Given the description of an element on the screen output the (x, y) to click on. 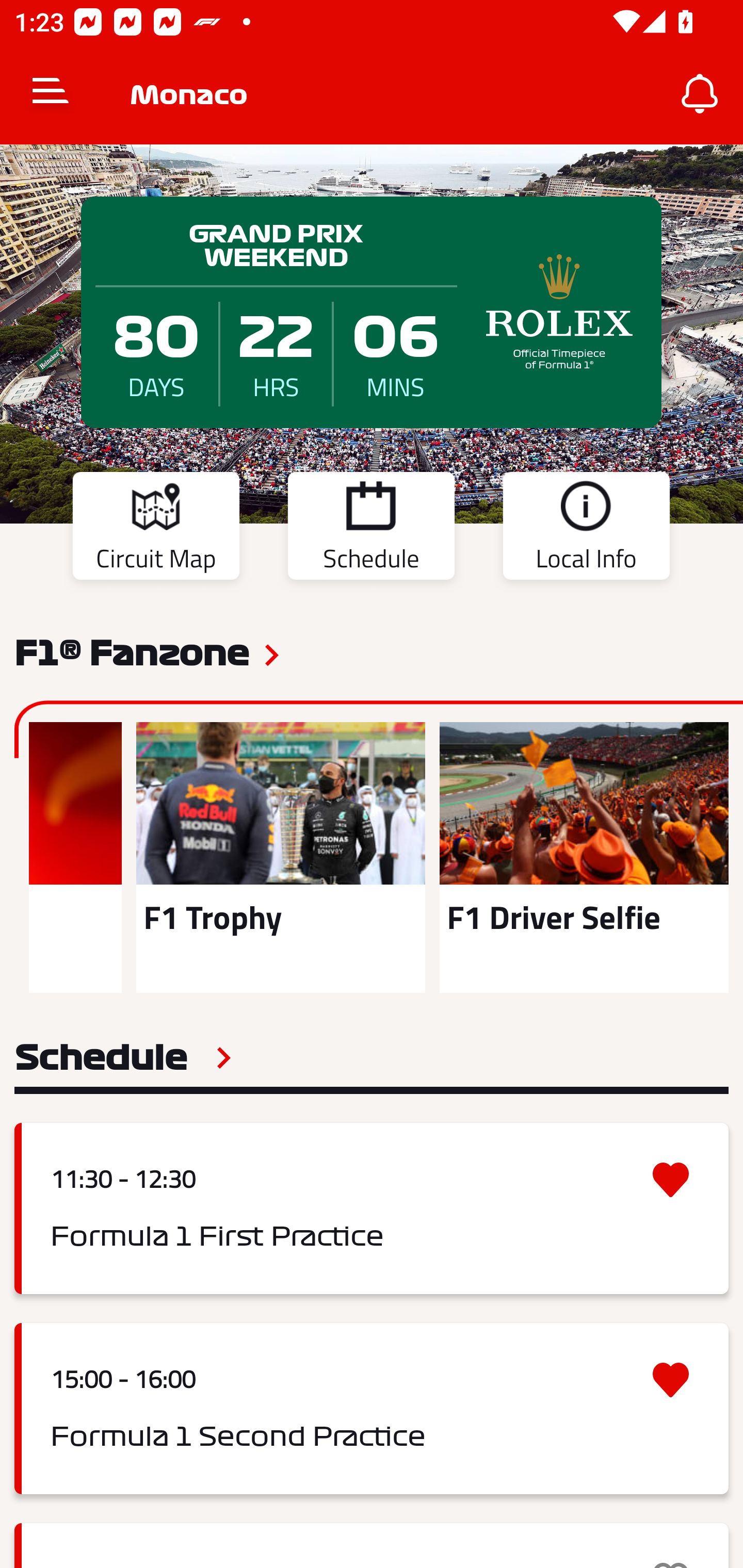
Navigate up (50, 93)
Notifications (699, 93)
Circuit Map (155, 528)
Schedule (370, 528)
Local Info (586, 528)
F1® Fanzone (131, 651)
F1 Trophy (279, 857)
F1 Driver Selfie (583, 857)
Schedule (122, 1057)
11:30 - 12:30 Formula 1 First Practice (371, 1207)
15:00 - 16:00 Formula 1 Second Practice (371, 1408)
